Given the description of an element on the screen output the (x, y) to click on. 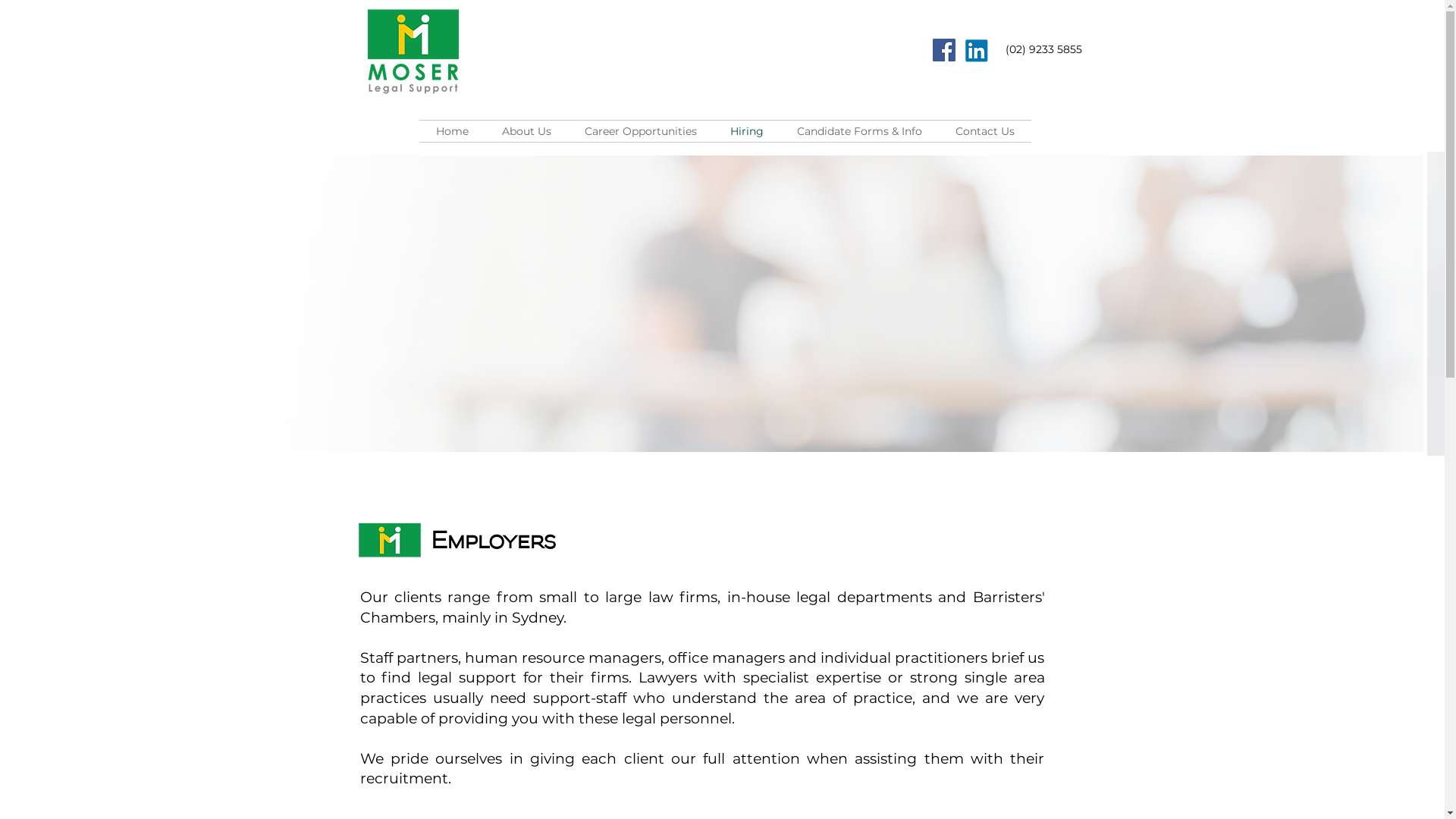
Contact Us Element type: text (984, 130)
Candidate Forms & Info Element type: text (858, 130)
About Us Element type: text (526, 130)
Home Element type: text (451, 130)
Career Opportunities Element type: text (639, 130)
Hiring Element type: text (745, 130)
